Given the description of an element on the screen output the (x, y) to click on. 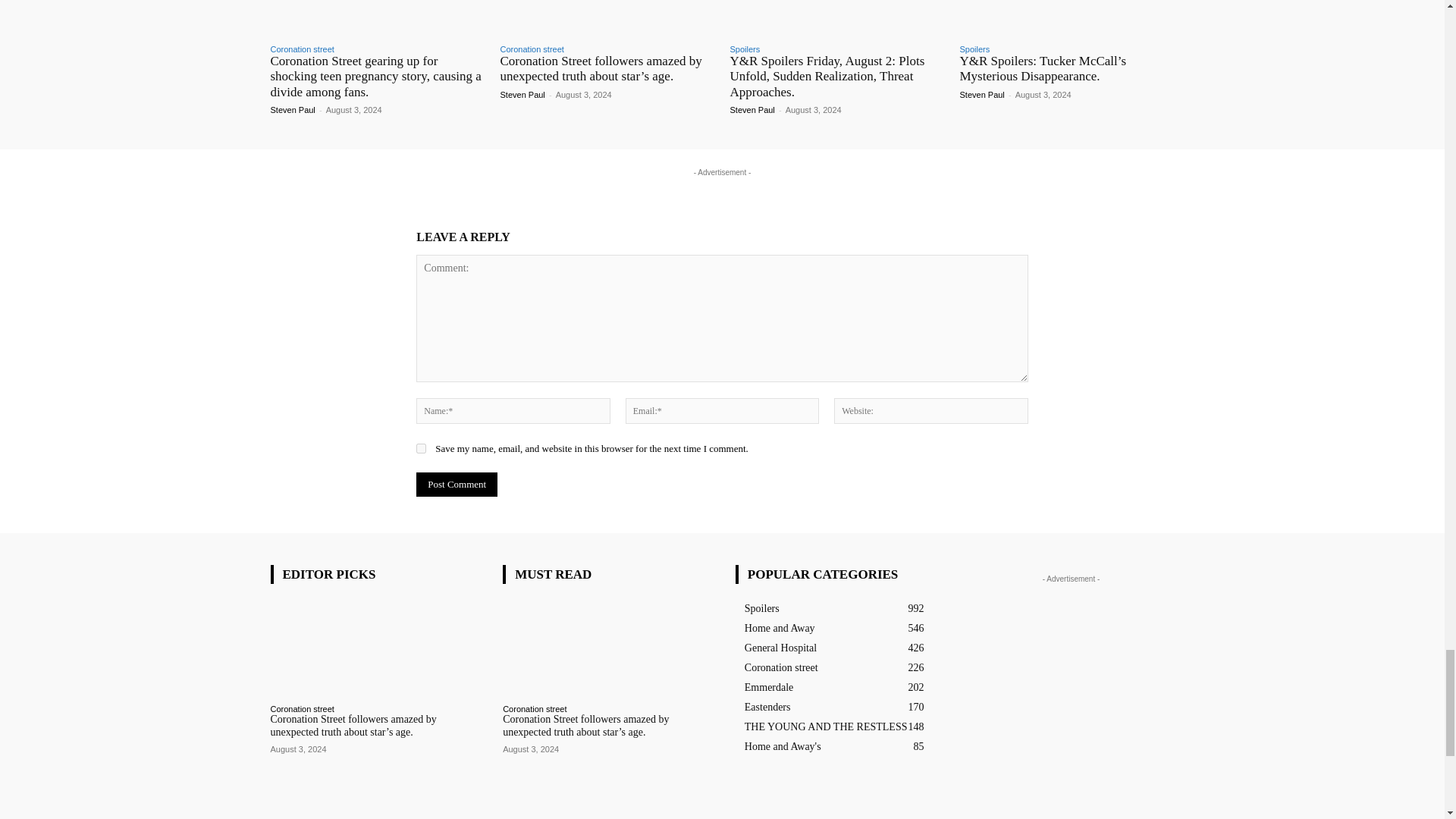
Post Comment (456, 484)
yes (421, 448)
